Given the description of an element on the screen output the (x, y) to click on. 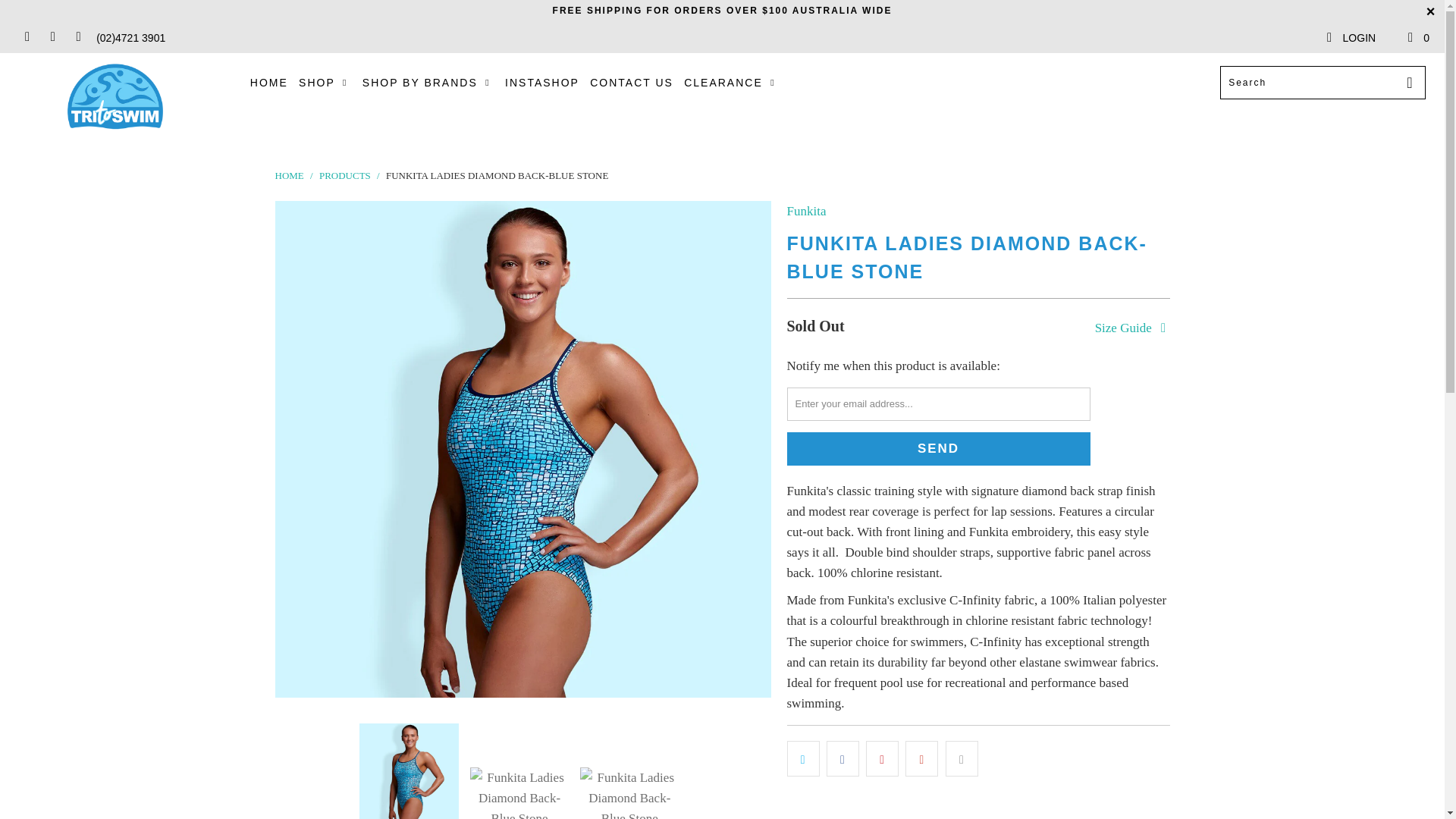
Tri To Swim (115, 97)
Email Tri To Swim (77, 37)
Tri To Swim on Facebook (25, 37)
My Account  (1349, 37)
Tri To Swim (288, 174)
Tri To Swim on Instagram (52, 37)
Send (938, 449)
